Given the description of an element on the screen output the (x, y) to click on. 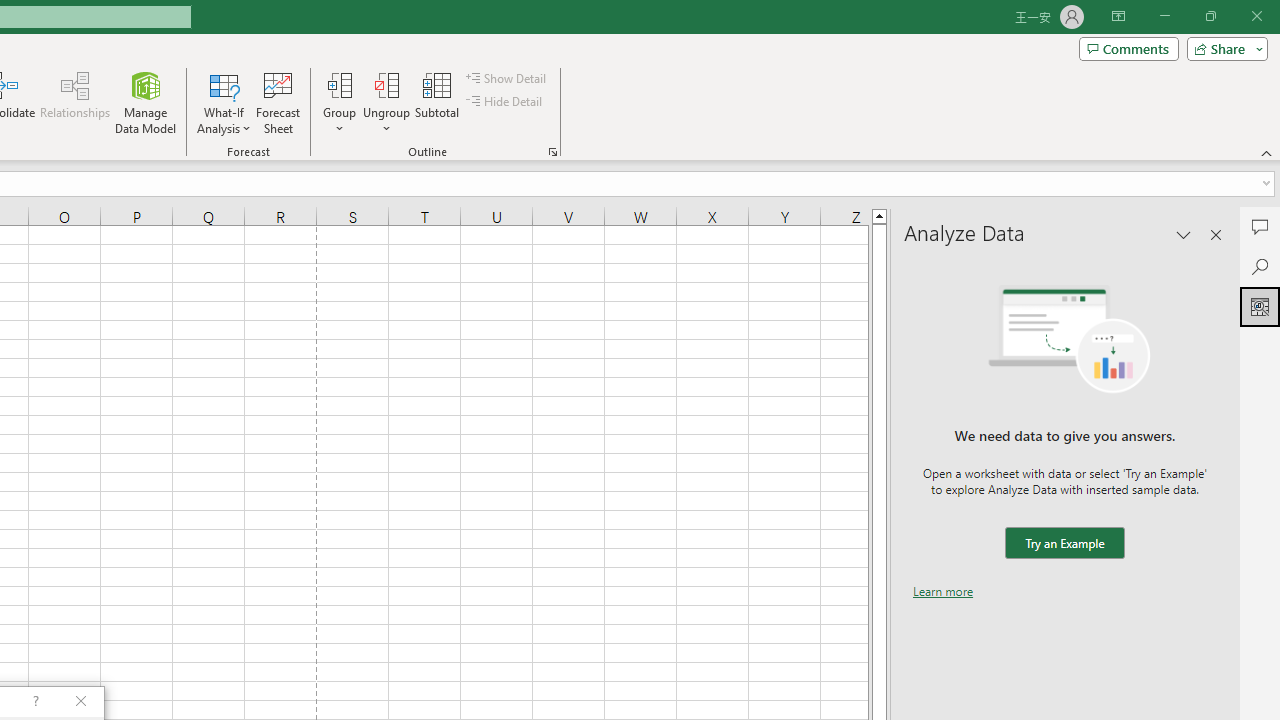
Ungroup... (386, 84)
What-If Analysis (223, 102)
Ungroup... (386, 102)
Line up (879, 215)
Collapse the Ribbon (1267, 152)
Analyze Data (1260, 306)
Show Detail (507, 78)
Group... (339, 84)
Close pane (1215, 234)
Relationships (75, 102)
Share (1223, 48)
Group and Outline Settings (552, 151)
More Options (386, 121)
Task Pane Options (1183, 234)
